Given the description of an element on the screen output the (x, y) to click on. 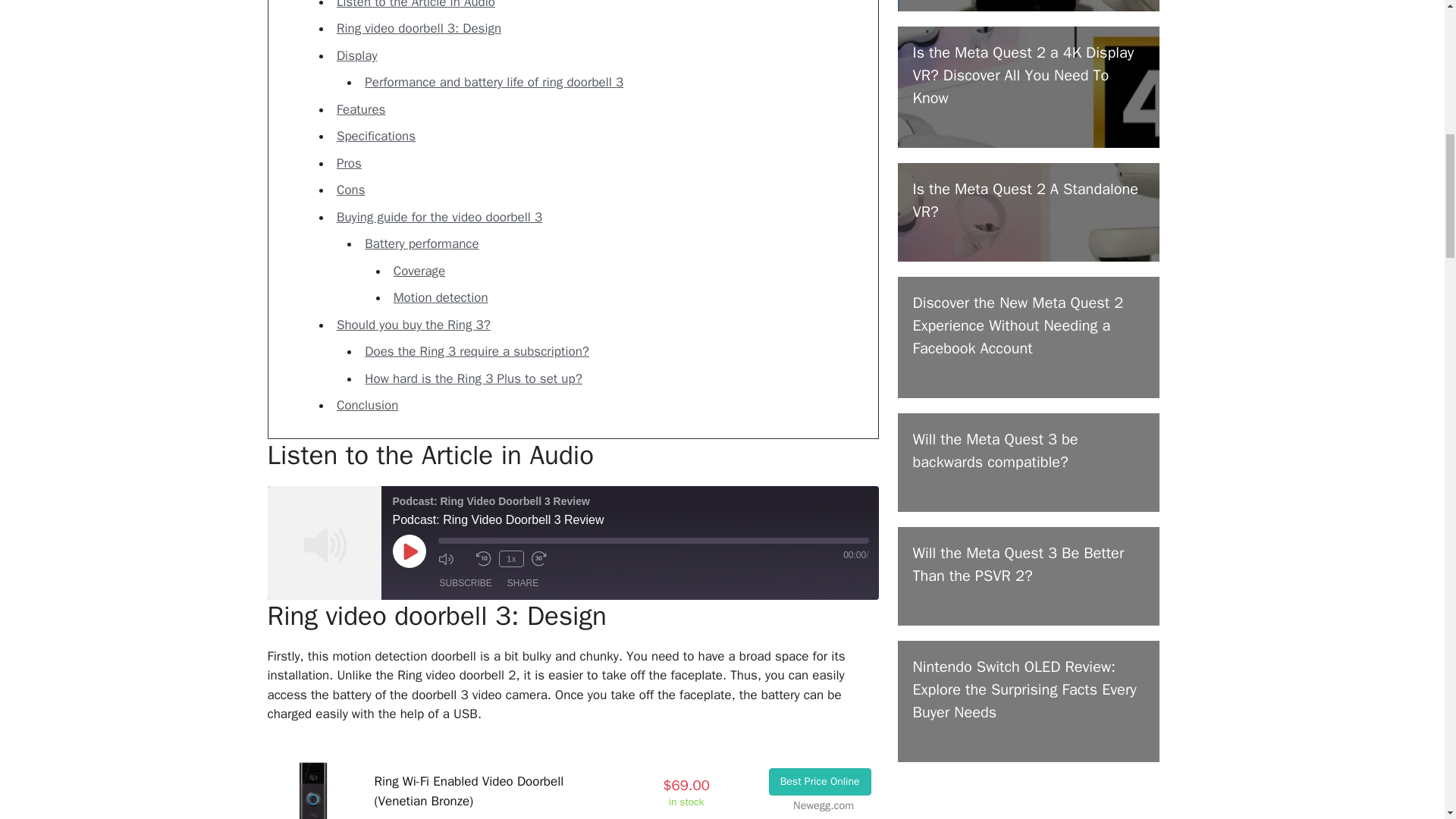
Share (522, 583)
Fast Forward 30 seconds (545, 558)
Listen to the Article in Audio (415, 4)
Playback Speed (511, 558)
Play (409, 551)
Seek (653, 540)
Subscribe (465, 583)
Rewind 10 seconds (484, 558)
Display (356, 55)
Ring video doorbell 3: Design (418, 28)
